Given the description of an element on the screen output the (x, y) to click on. 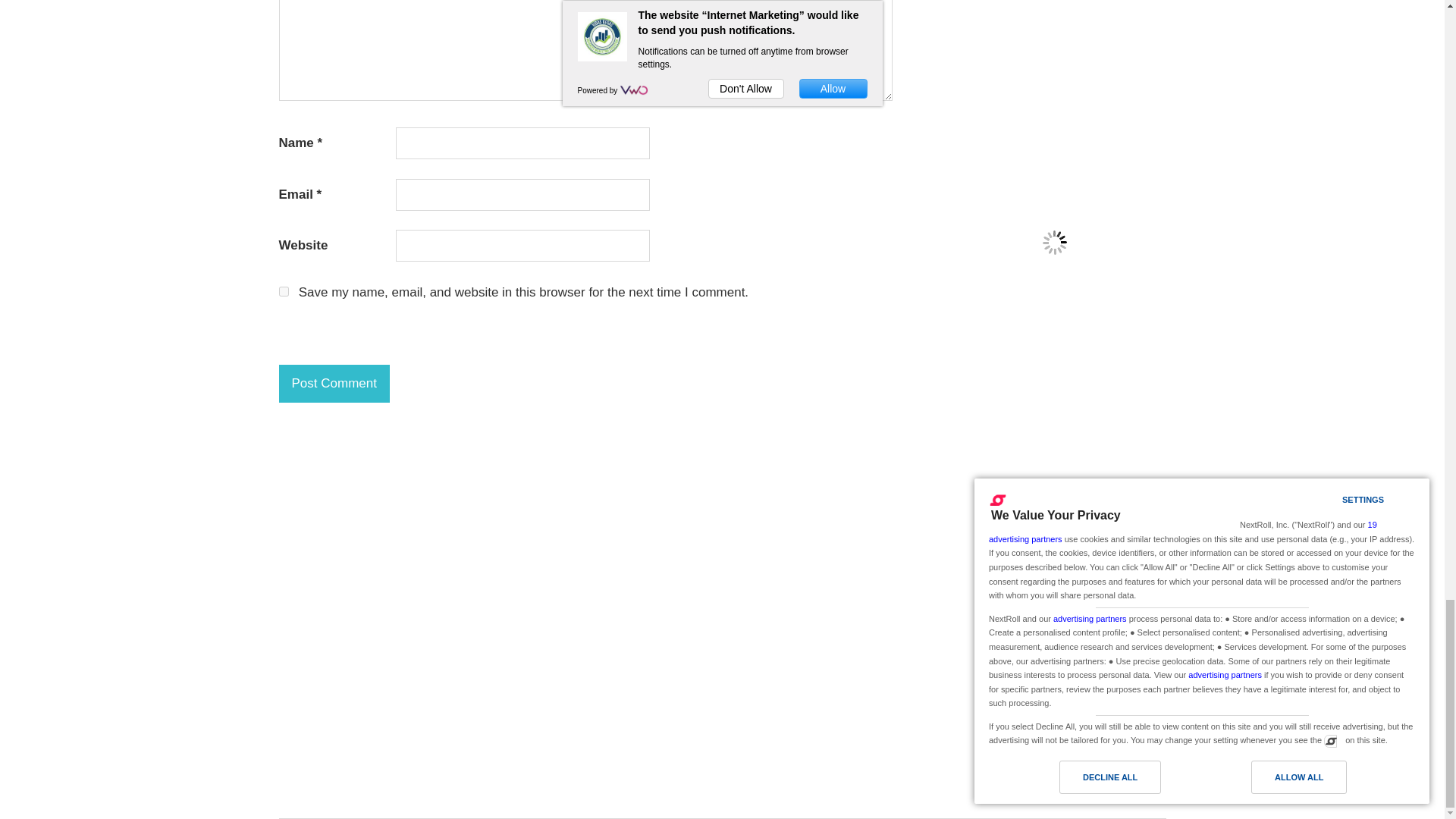
Post Comment (334, 383)
Post Comment (334, 383)
yes (283, 291)
